Given the description of an element on the screen output the (x, y) to click on. 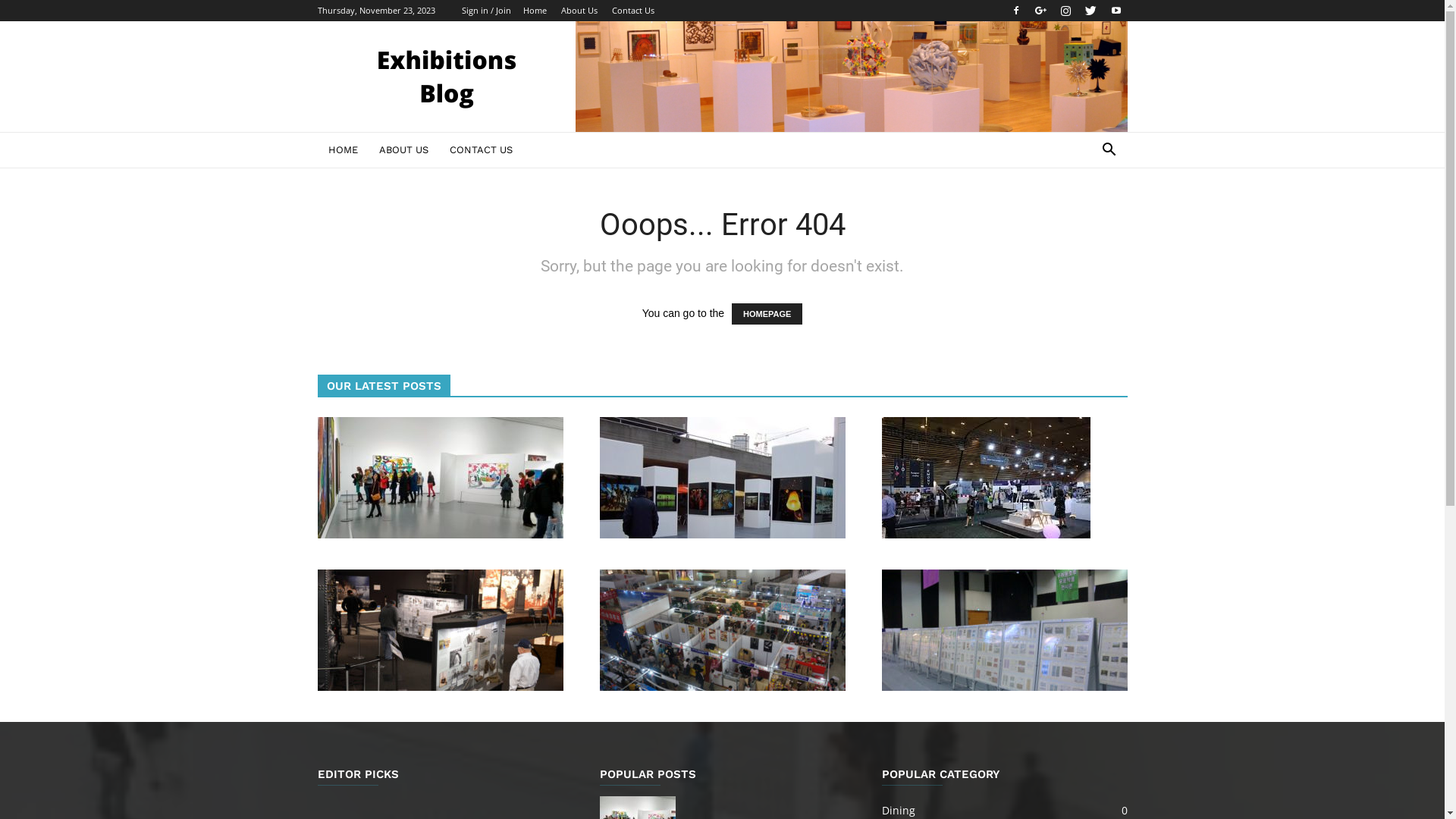
CONTACT US Element type: text (480, 149)
ABOUT US Element type: text (403, 149)
Home Element type: text (534, 9)
Youtube Element type: hover (1115, 10)
Google+ Element type: hover (1040, 10)
About Us Element type: text (579, 9)
Sign in / Join Element type: text (485, 9)
Instagram Element type: hover (1065, 10)
Dining
0 Element type: text (897, 810)
Twitter Element type: hover (1090, 10)
Contact Us Element type: text (632, 9)
Search Element type: text (1085, 210)
HOMEPAGE Element type: text (766, 313)
HOME Element type: text (341, 149)
Facebook Element type: hover (1015, 10)
